Given the description of an element on the screen output the (x, y) to click on. 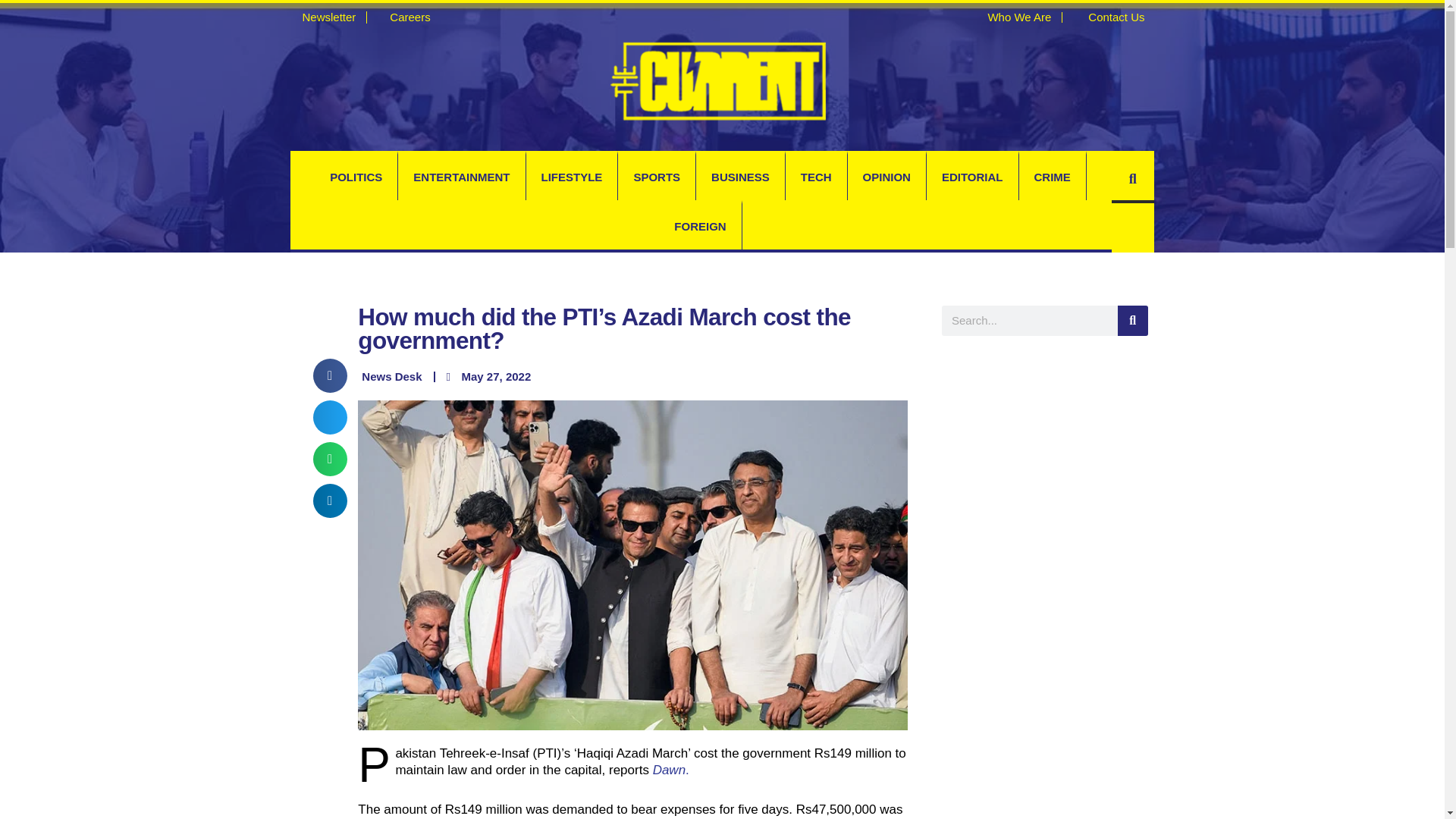
ENTERTAINMENT (460, 176)
Newsletter (322, 17)
CRIME (1052, 176)
Who We Are (1011, 17)
EDITORIAL (971, 176)
FOREIGN (700, 226)
BUSINESS (739, 176)
OPINION (886, 176)
Careers (403, 17)
POLITICS (355, 176)
LIFESTYLE (571, 176)
SPORTS (656, 176)
Contact Us (1108, 17)
TECH (816, 176)
